Given the description of an element on the screen output the (x, y) to click on. 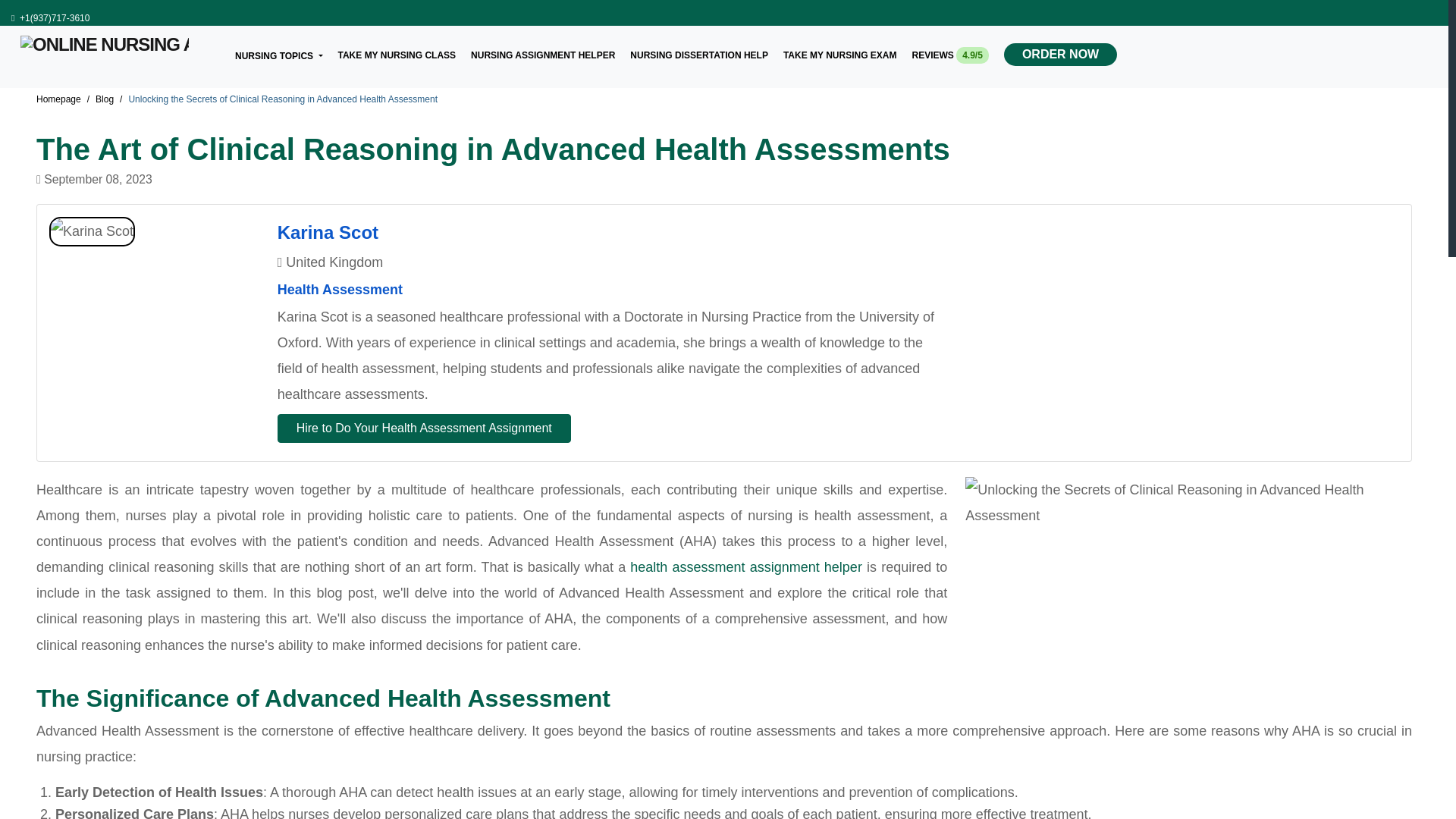
TAKE MY NURSING EXAM (839, 51)
NURSING ASSIGNMENT HELPER (542, 51)
NURSING TOPICS (278, 55)
TAKE MY NURSING CLASS (397, 51)
ORDER NOW (1060, 54)
NURSING DISSERTATION HELP (699, 51)
